Given the description of an element on the screen output the (x, y) to click on. 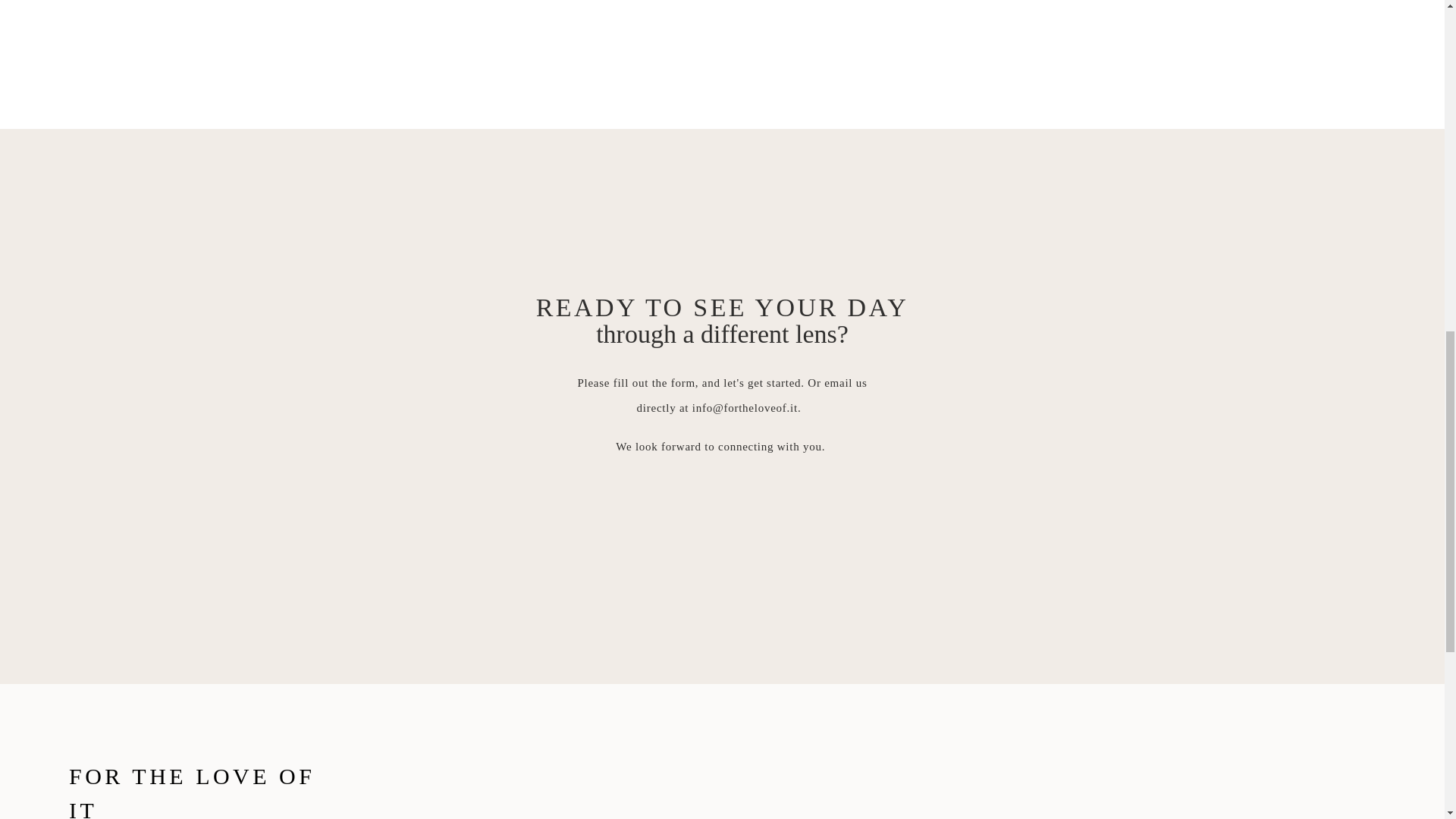
FOR THE LOVE OF IT (198, 776)
